Given the description of an element on the screen output the (x, y) to click on. 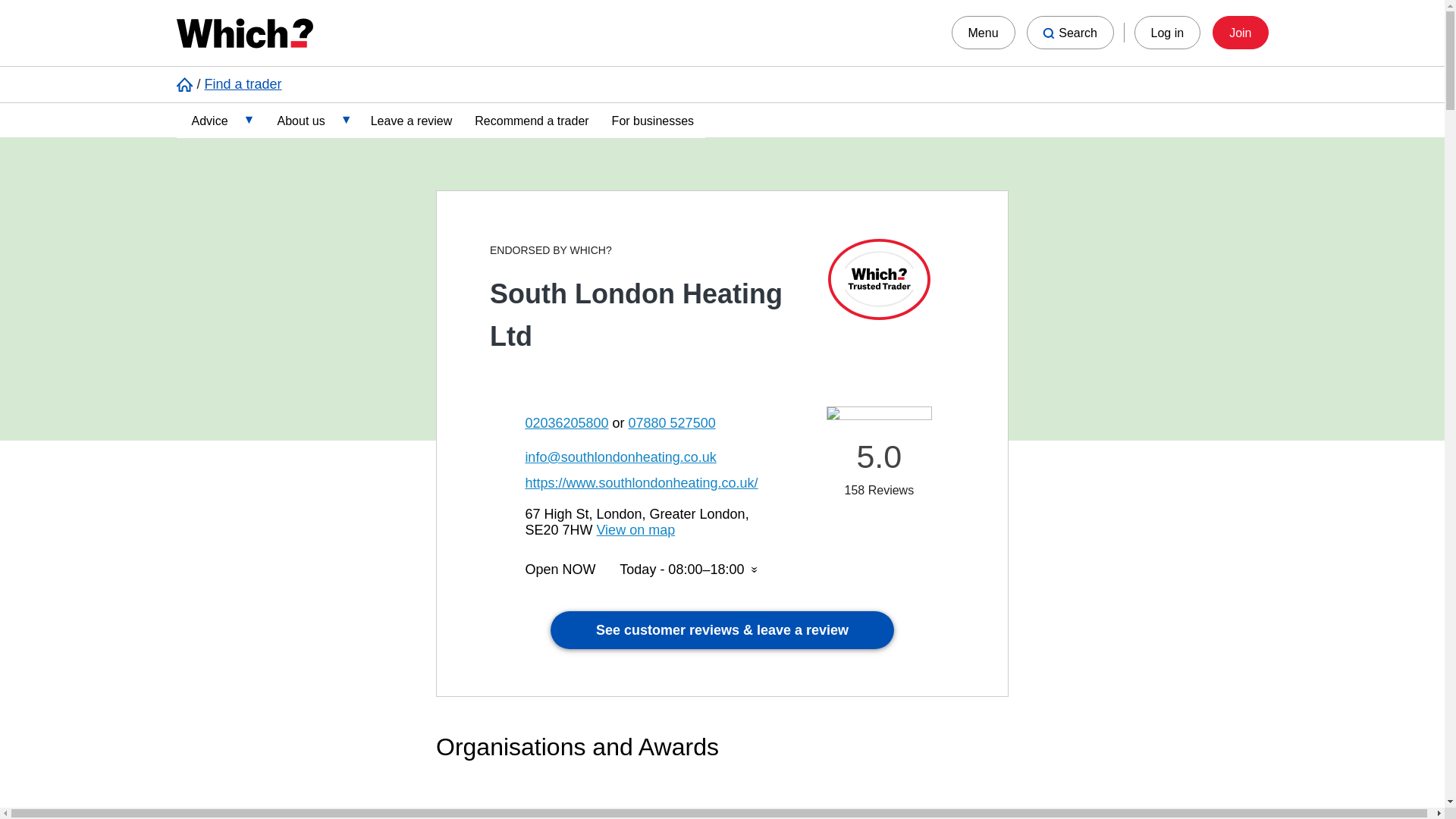
Find a trader (243, 83)
General information (284, 279)
Join (1240, 32)
Design (284, 199)
Click to see all opening hours (689, 569)
Menu (983, 32)
Hiring a trader (284, 319)
Cost guide (284, 159)
Search (1069, 32)
Advice (219, 119)
